Given the description of an element on the screen output the (x, y) to click on. 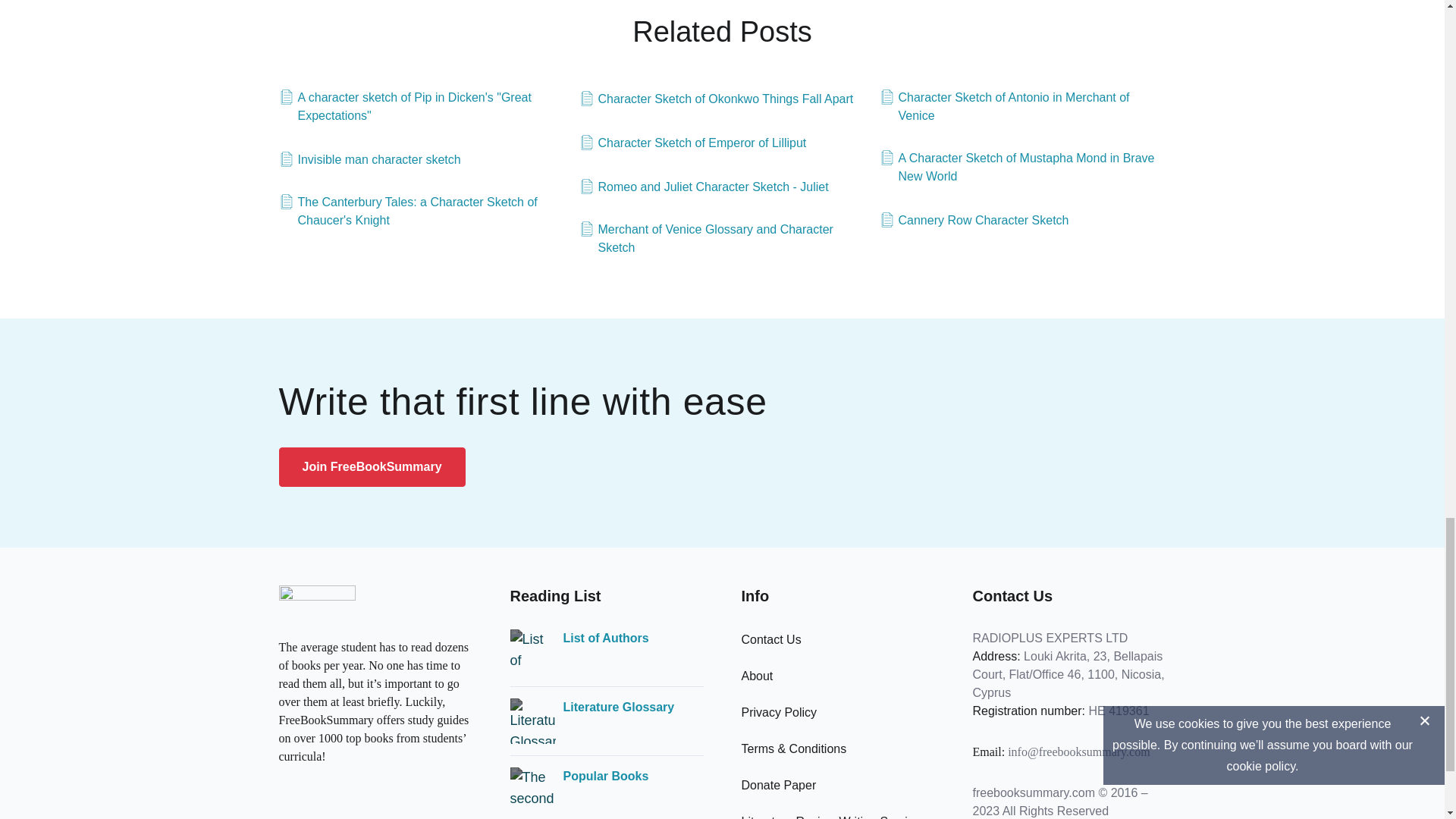
Character Sketch of Antonio in Merchant of Venice (1022, 106)
Cannery Row Character Sketch (973, 220)
Merchant of Venice Glossary and Character Sketch (722, 238)
A Character Sketch of Mustapha Mond in Brave New World (1022, 167)
The Canterbury Tales: a Character Sketch of Chaucer's Knight (422, 211)
Invisible man character sketch (370, 159)
Romeo and Juliet Character Sketch - Juliet (703, 187)
Character Sketch of Emperor of Lilliput (692, 143)
Character Sketch of Okonkwo Things Fall Apart (716, 99)
A character sketch of Pip in Dicken's "Great Expectations" (422, 106)
